Given the description of an element on the screen output the (x, y) to click on. 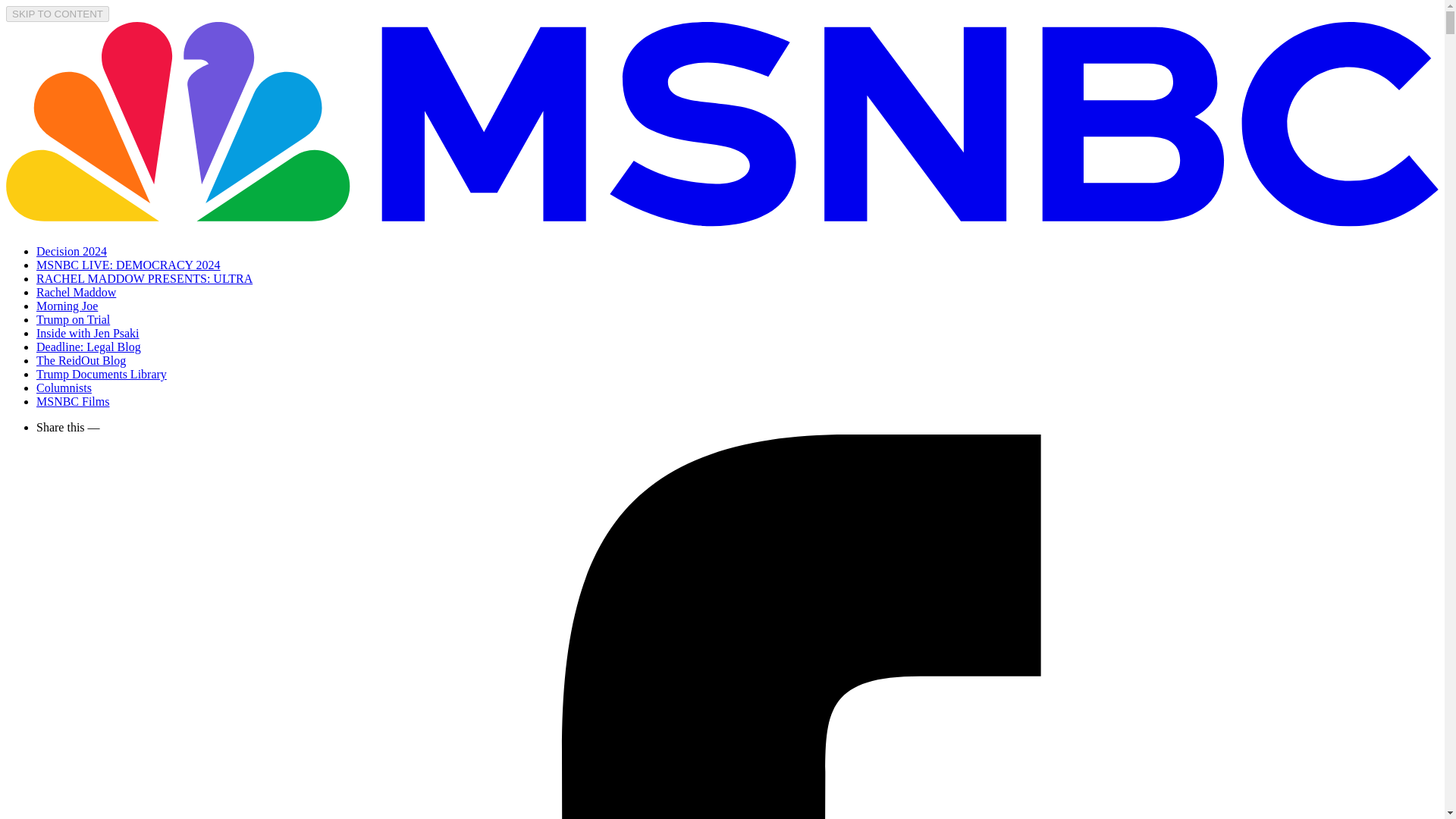
Inside with Jen Psaki (87, 332)
MSNBC Films (72, 400)
Decision 2024 (71, 250)
The ReidOut Blog (80, 359)
Deadline: Legal Blog (88, 346)
Trump Documents Library (101, 373)
Rachel Maddow (76, 291)
SKIP TO CONTENT (57, 13)
Morning Joe (66, 305)
Trump on Trial (73, 318)
